Given the description of an element on the screen output the (x, y) to click on. 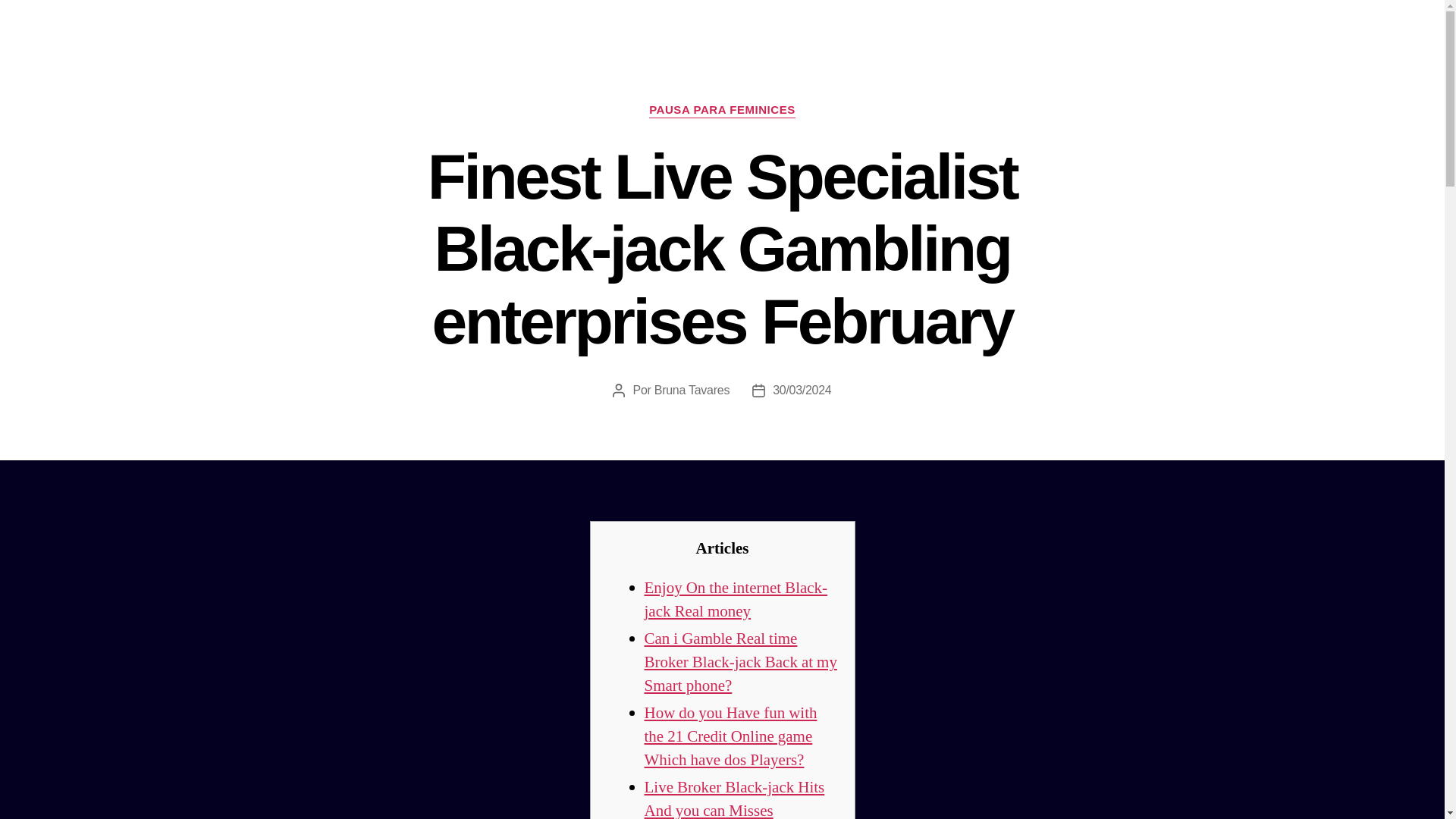
Bruna Tavares (691, 390)
Live Broker Black-jack Hits And you can Misses (735, 798)
PAUSA PARA FEMINICES (721, 110)
Enjoy On the internet Black-jack Real money (736, 599)
